Given the description of an element on the screen output the (x, y) to click on. 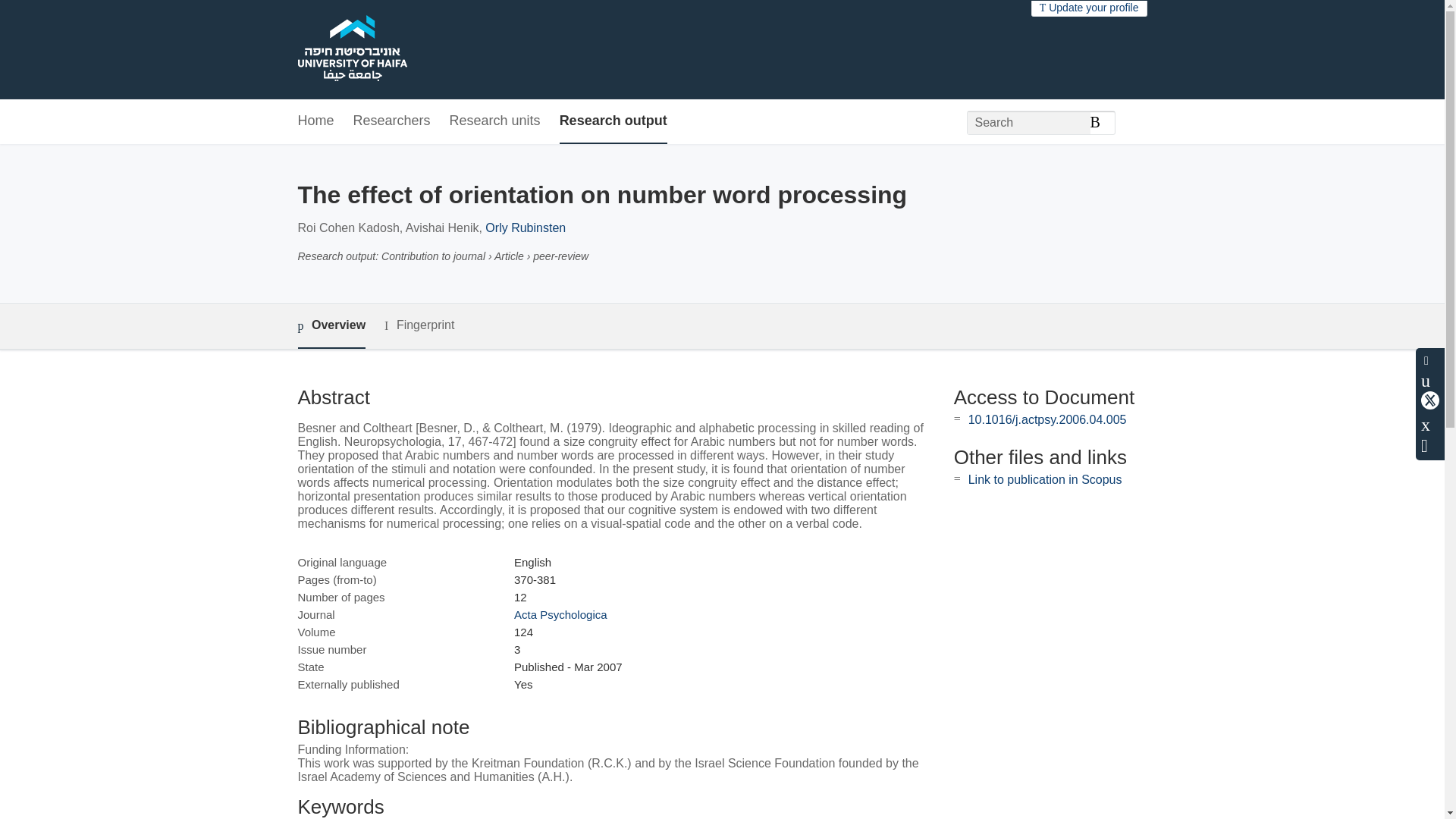
Acta Psychologica (560, 614)
Overview (331, 325)
Fingerprint (419, 325)
Orly Rubinsten (525, 227)
Research units (494, 121)
University of Haifa Home (351, 49)
Research output (612, 121)
Researchers (391, 121)
Update your profile (1089, 7)
